Given the description of an element on the screen output the (x, y) to click on. 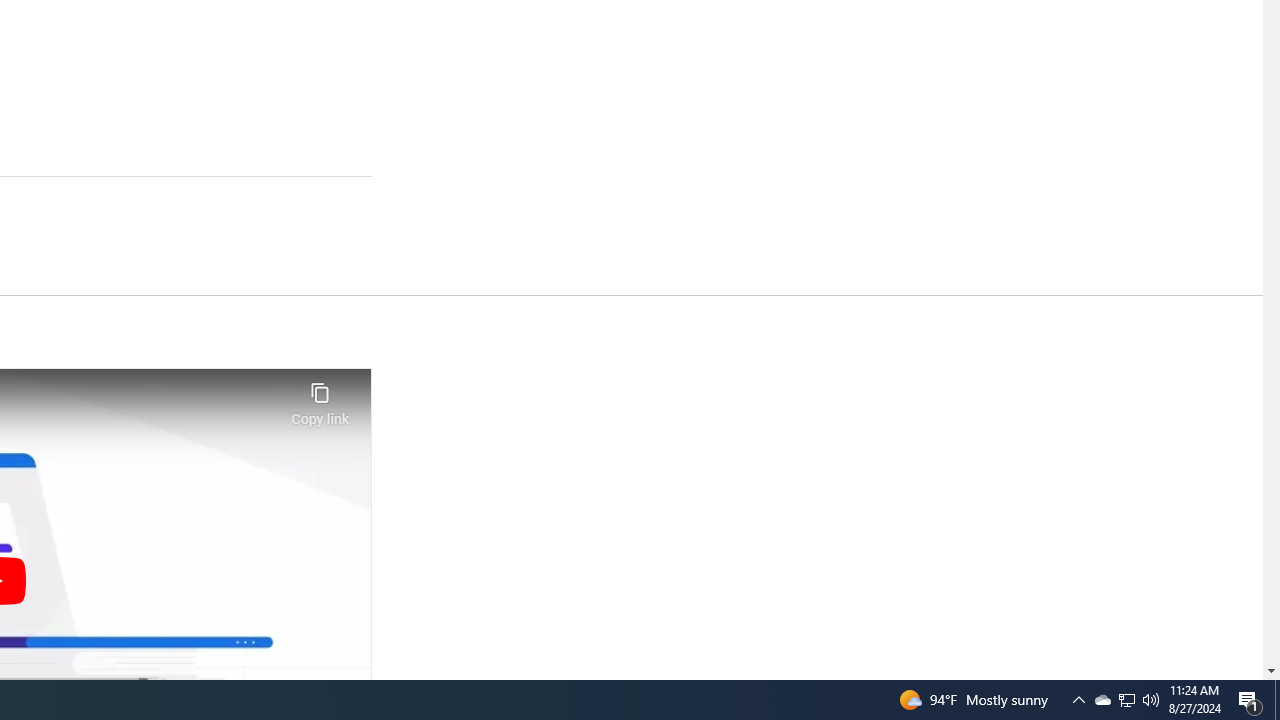
Copy link (319, 398)
